Given the description of an element on the screen output the (x, y) to click on. 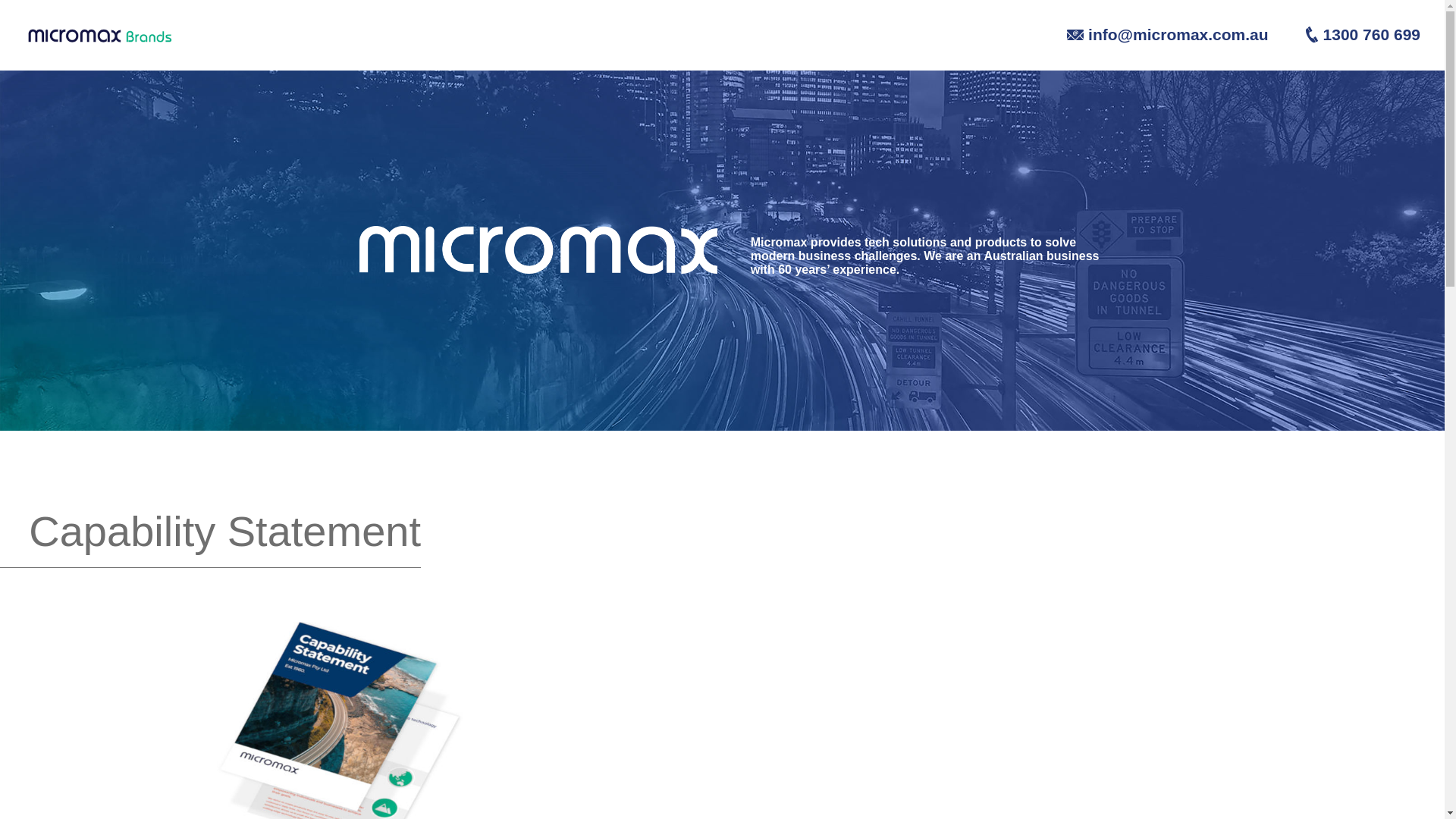
Micromax Capability Statement
READ DOCUMENT Element type: text (341, 627)
Phone 1300 760 699 Element type: text (1345, 33)
Email info@micromax.com.au Element type: text (1151, 33)
